Given the description of an element on the screen output the (x, y) to click on. 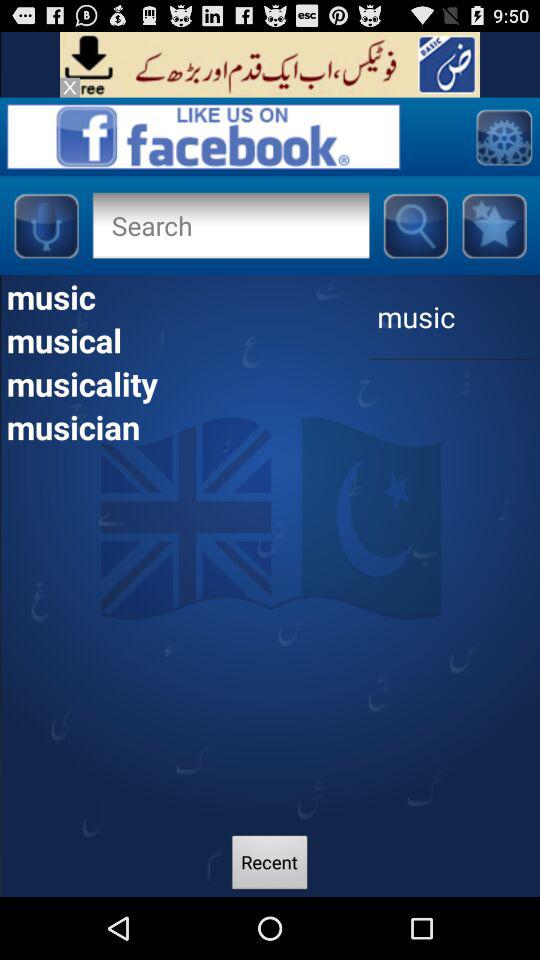
configurations (503, 136)
